Given the description of an element on the screen output the (x, y) to click on. 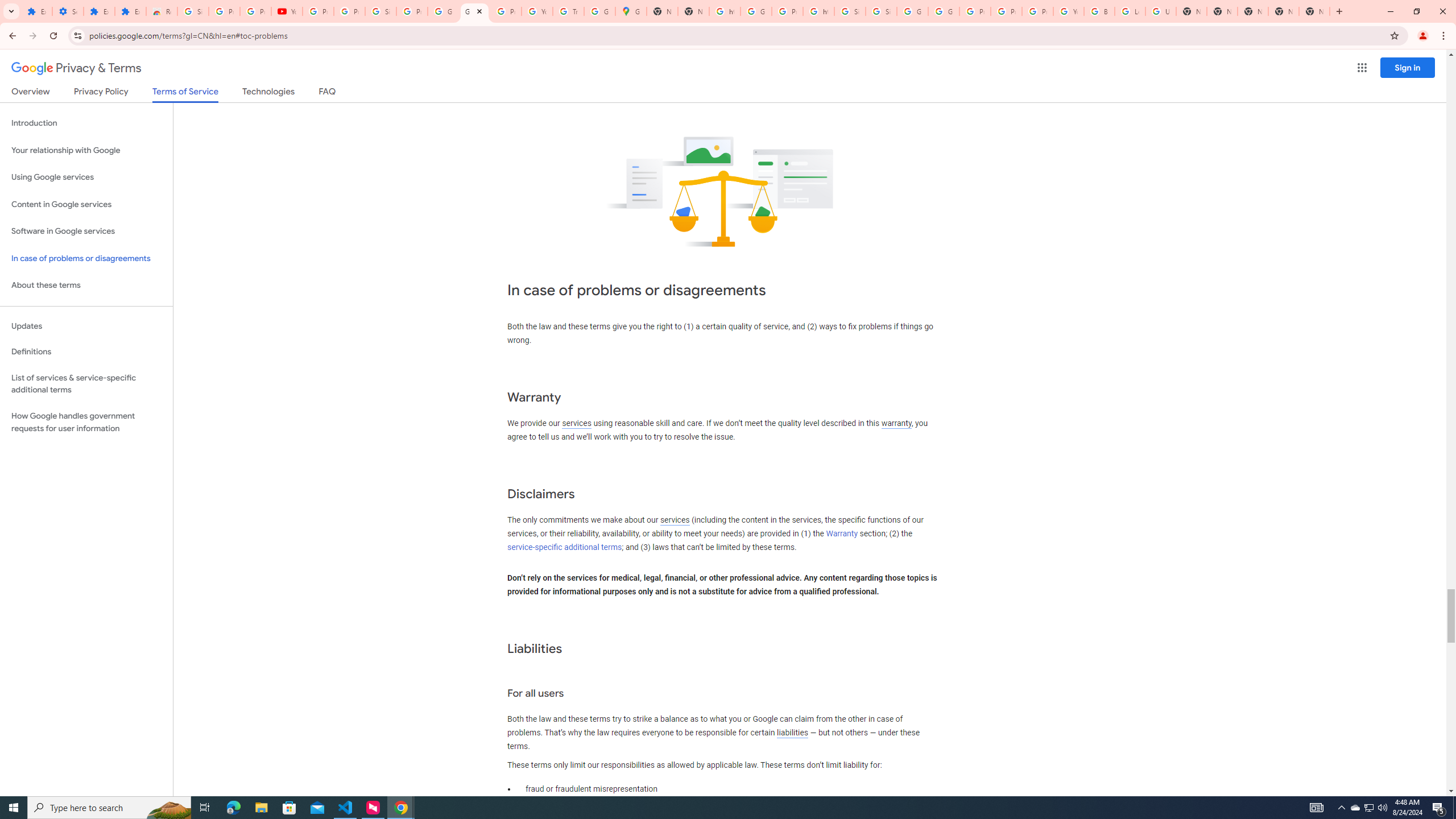
liabilities (792, 732)
service-specific additional terms (563, 547)
YouTube (286, 11)
